Given the description of an element on the screen output the (x, y) to click on. 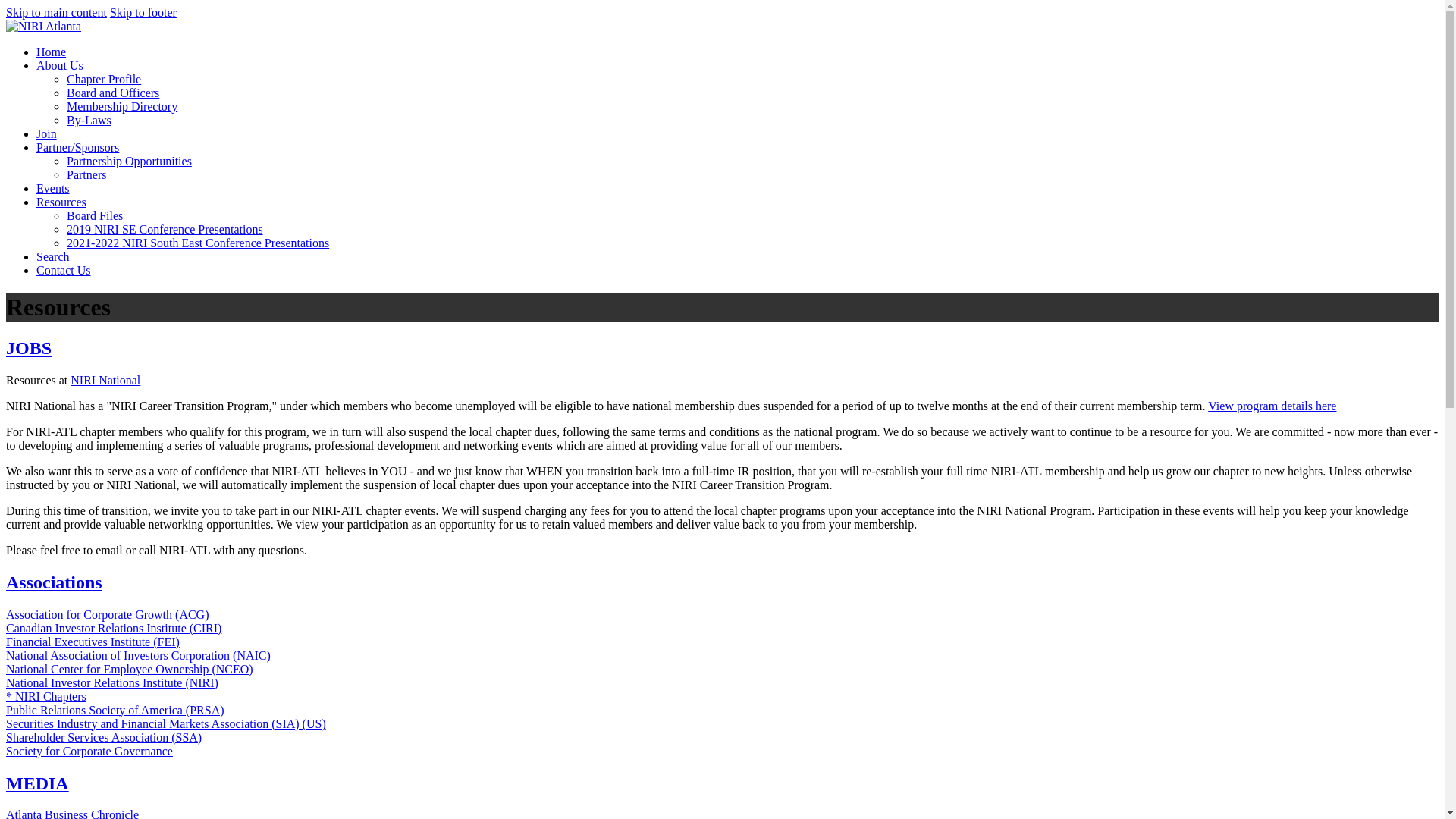
Partnership Opportunities (129, 160)
View program details here (1272, 405)
Atlanta Business Chronicle (71, 813)
Skip to main content (55, 11)
Home (50, 51)
Join (46, 133)
2019 NIRI SE Conference Presentations (164, 228)
Board and Officers (112, 92)
Resources (60, 201)
Contact Us (63, 269)
